Given the description of an element on the screen output the (x, y) to click on. 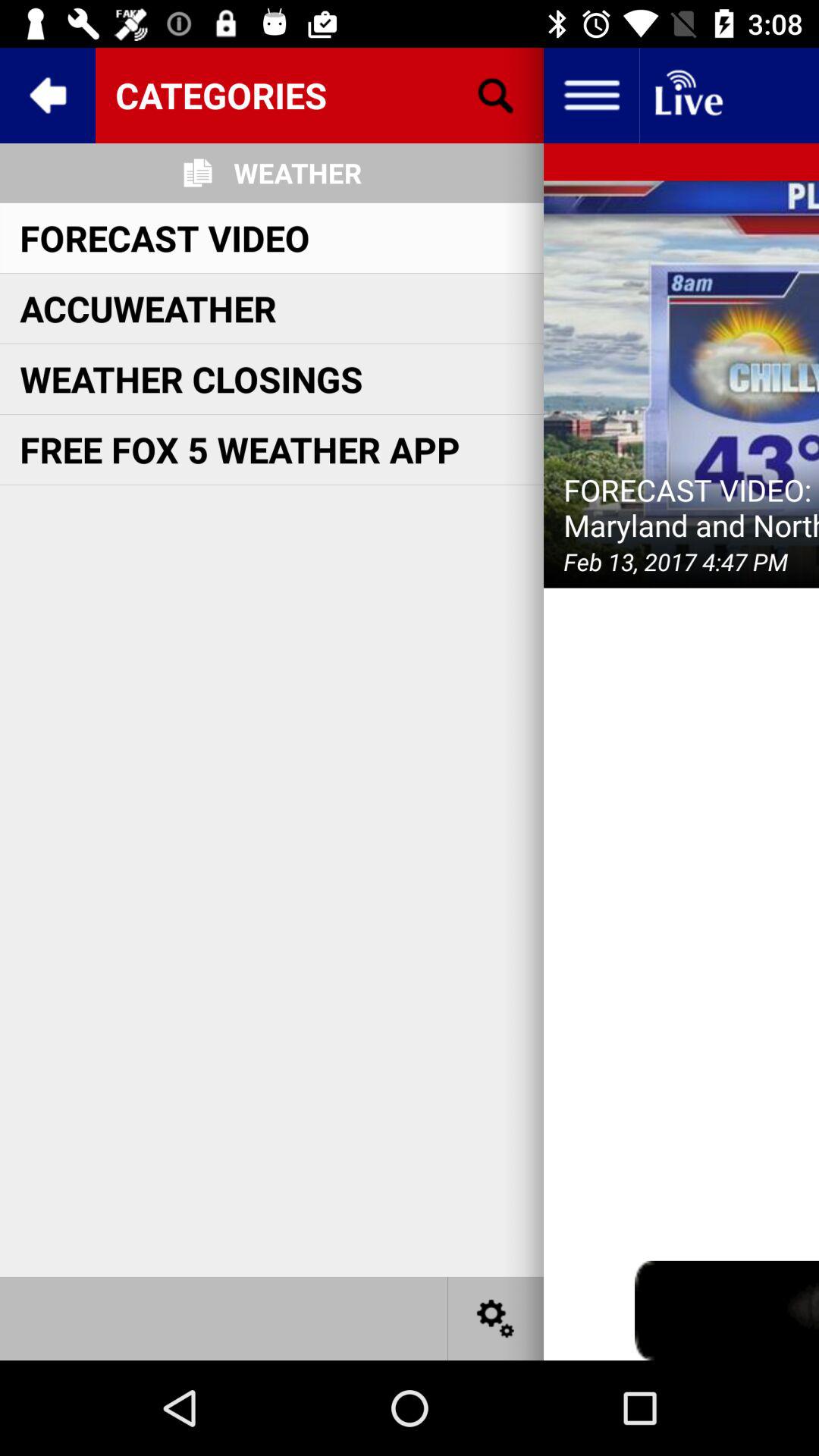
turn on the forecast video item (164, 237)
